Given the description of an element on the screen output the (x, y) to click on. 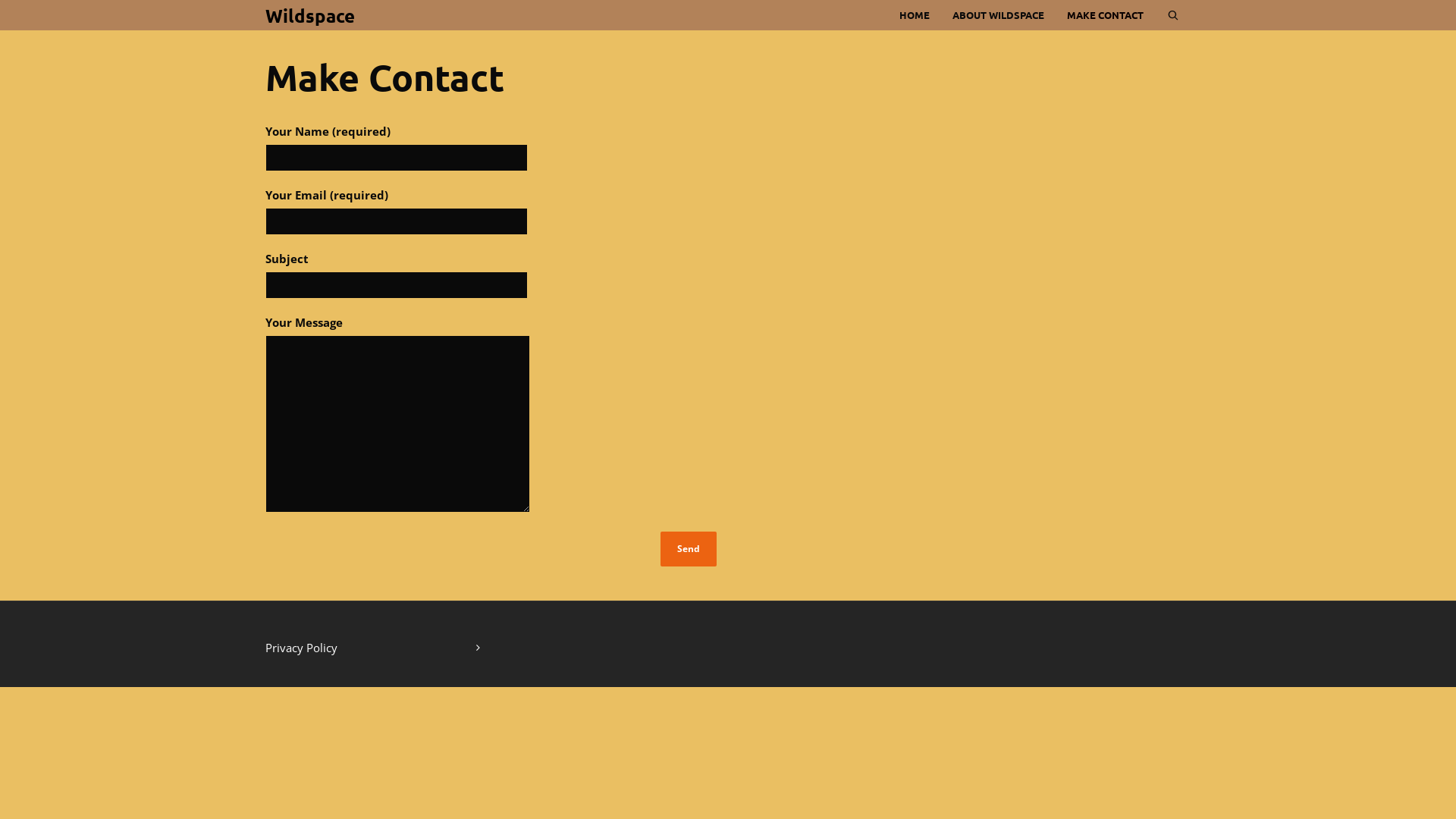
HOME Element type: text (914, 15)
ABOUT WILDSPACE Element type: text (998, 15)
Wildspace Element type: text (309, 15)
Send Element type: text (688, 548)
Privacy Policy Element type: text (372, 647)
MAKE CONTACT Element type: text (1104, 15)
